Given the description of an element on the screen output the (x, y) to click on. 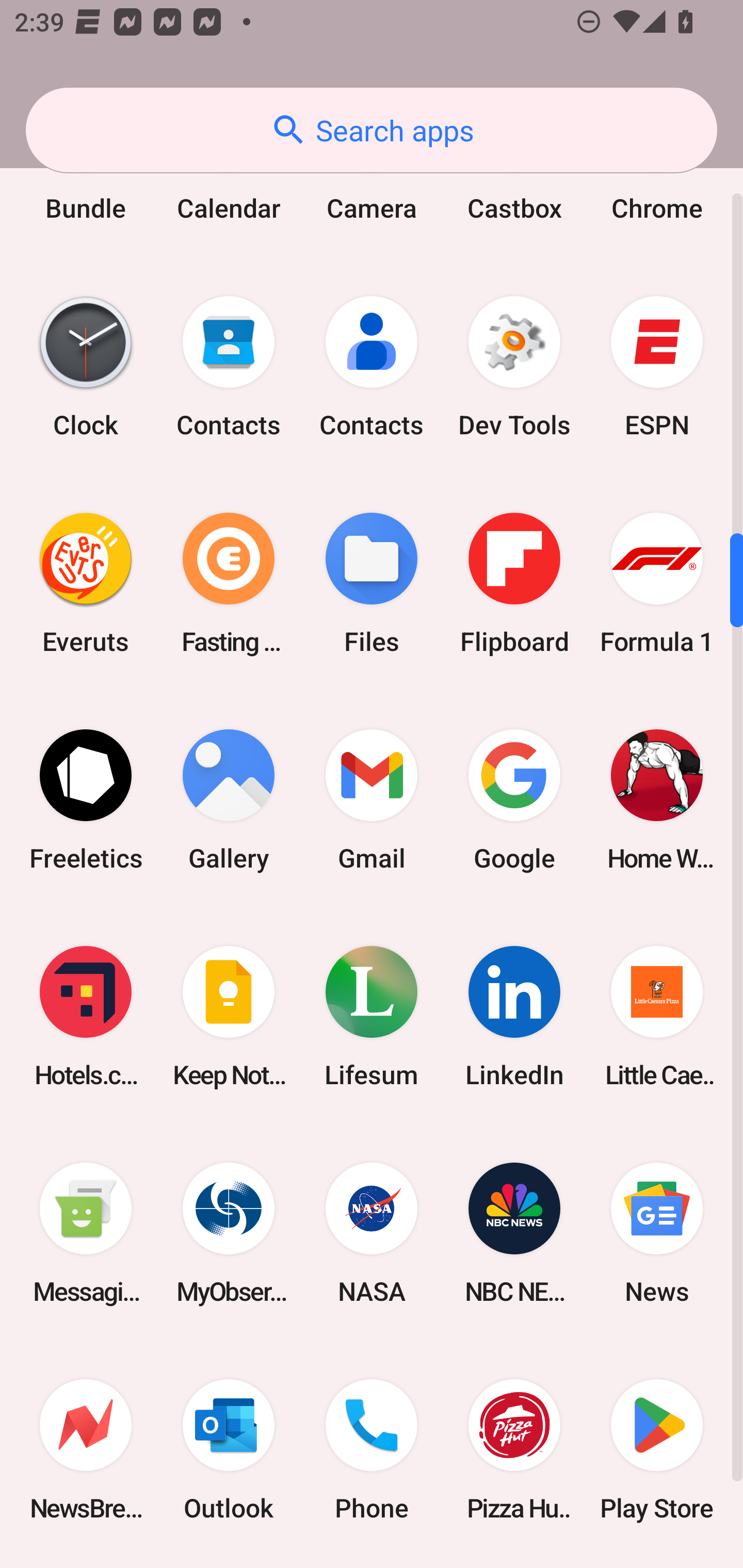
  Search apps (371, 130)
Clock (85, 366)
Contacts (228, 366)
Contacts (371, 366)
Dev Tools (514, 366)
ESPN (656, 366)
Everuts (85, 583)
Fasting Coach (228, 583)
Files (371, 583)
Flipboard (514, 583)
Formula 1 (656, 583)
Freeletics (85, 799)
Gallery (228, 799)
Gmail (371, 799)
Google (514, 799)
Home Workout (656, 799)
Hotels.com (85, 1015)
Keep Notes (228, 1015)
Lifesum (371, 1015)
LinkedIn (514, 1015)
Little Caesars Pizza (656, 1015)
Messaging (85, 1233)
MyObservatory (228, 1233)
NASA (371, 1233)
NBC NEWS (514, 1233)
News (656, 1233)
NewsBreak (85, 1450)
Outlook (228, 1450)
Phone (371, 1450)
Pizza Hut HK & Macau (514, 1450)
Play Store (656, 1450)
